Given the description of an element on the screen output the (x, y) to click on. 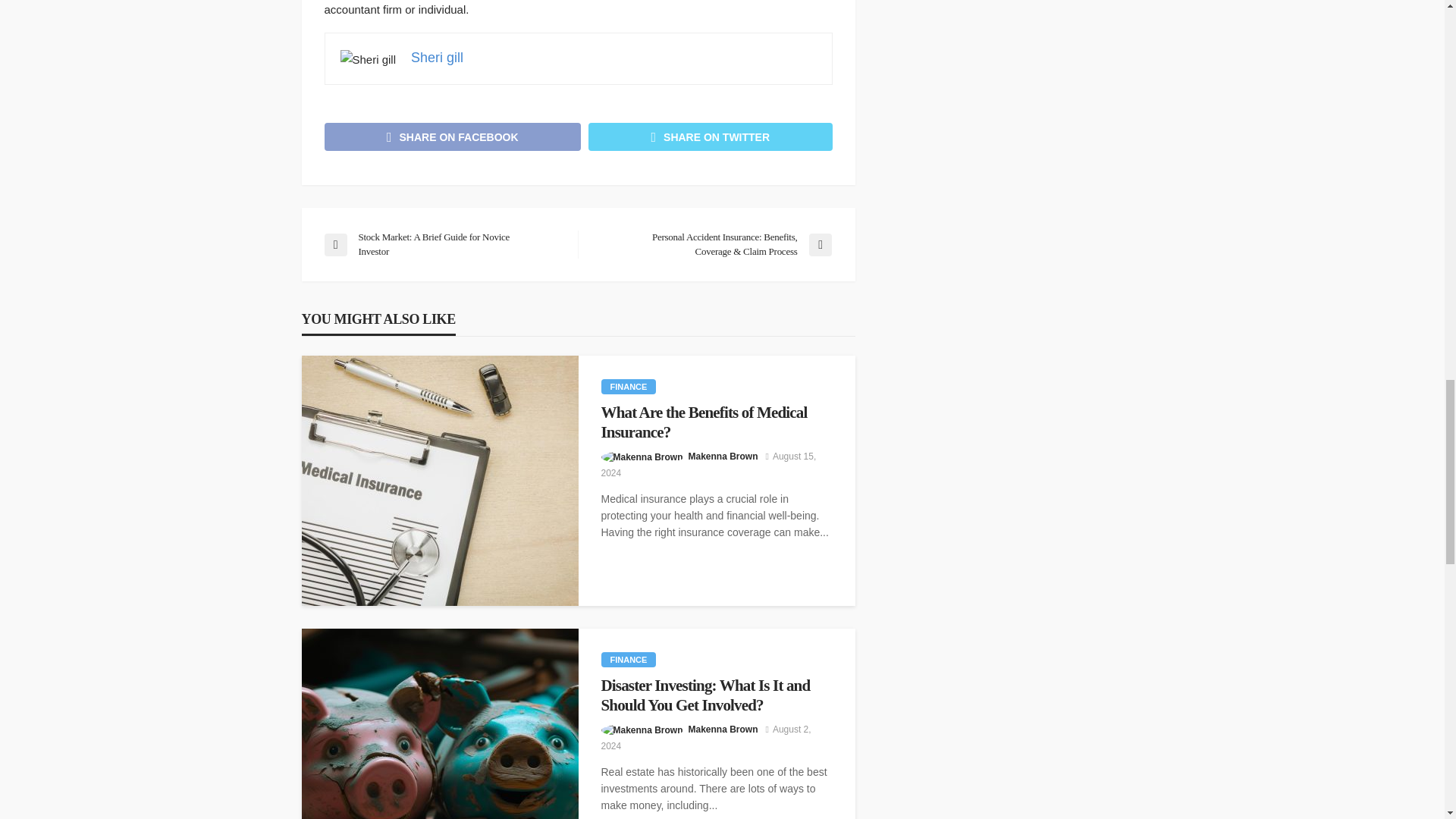
Disaster Investing: What Is It and Should You Get Involved? (439, 723)
Disaster Investing: What Is It and Should You Get Involved? (715, 695)
Makenna Brown (723, 456)
Stock Market: A Brief Guide for Novice Investor (443, 243)
FINANCE (627, 386)
Stock Market: A Brief Guide for Novice Investor (443, 243)
What Are the Benefits of Medical Insurance? (715, 422)
Finance (627, 659)
Finance (627, 386)
SHARE ON TWITTER (709, 136)
